Given the description of an element on the screen output the (x, y) to click on. 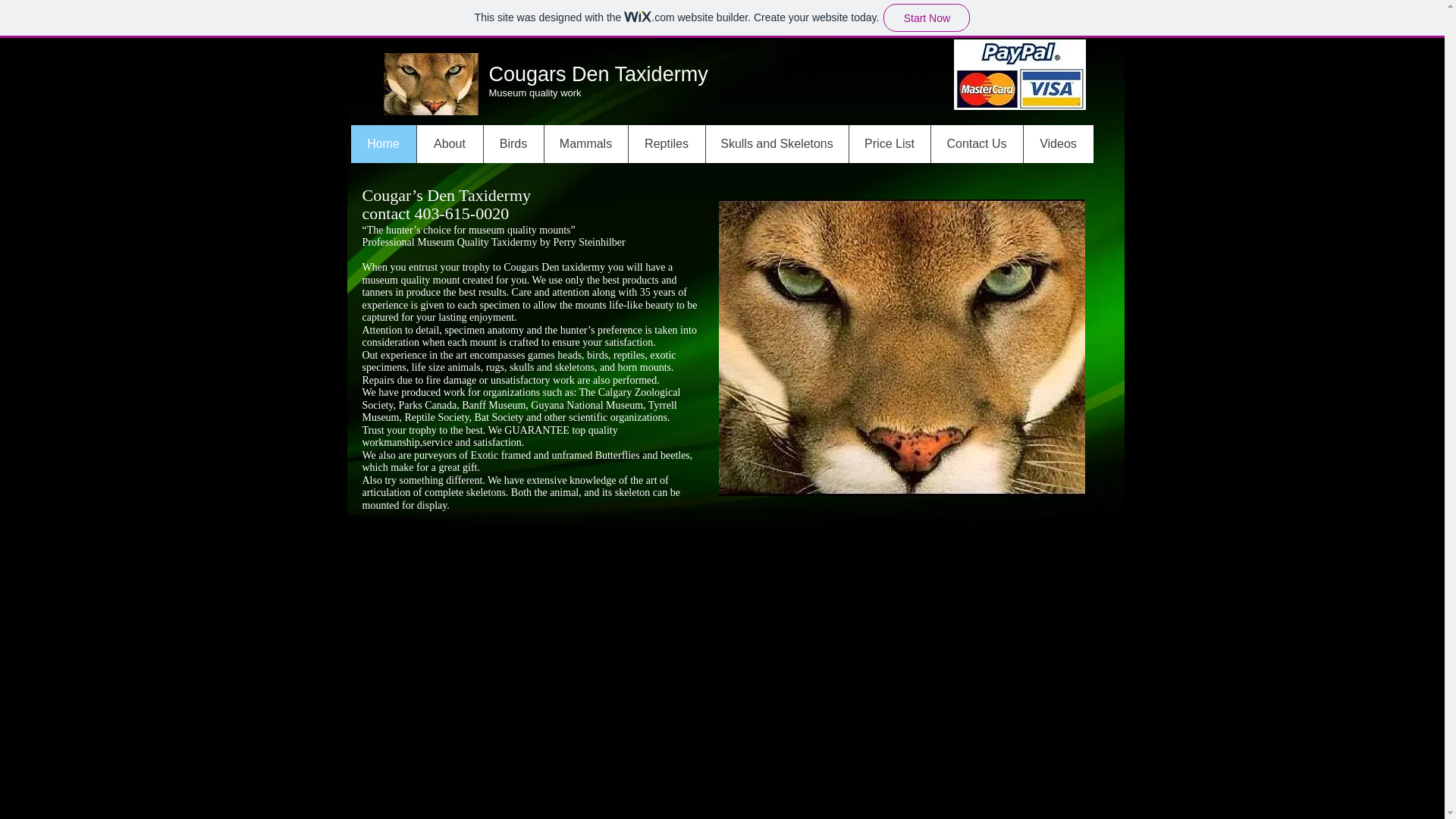
Videos (1057, 143)
Contact Us (976, 143)
Reptiles (665, 143)
cougar.jpg (431, 84)
About (447, 143)
Skulls and Skeletons (776, 143)
Home (382, 143)
Mammals (585, 143)
Price List (888, 143)
Birds (512, 143)
Paypal-creditcard-logo.JPG (1019, 74)
